Given the description of an element on the screen output the (x, y) to click on. 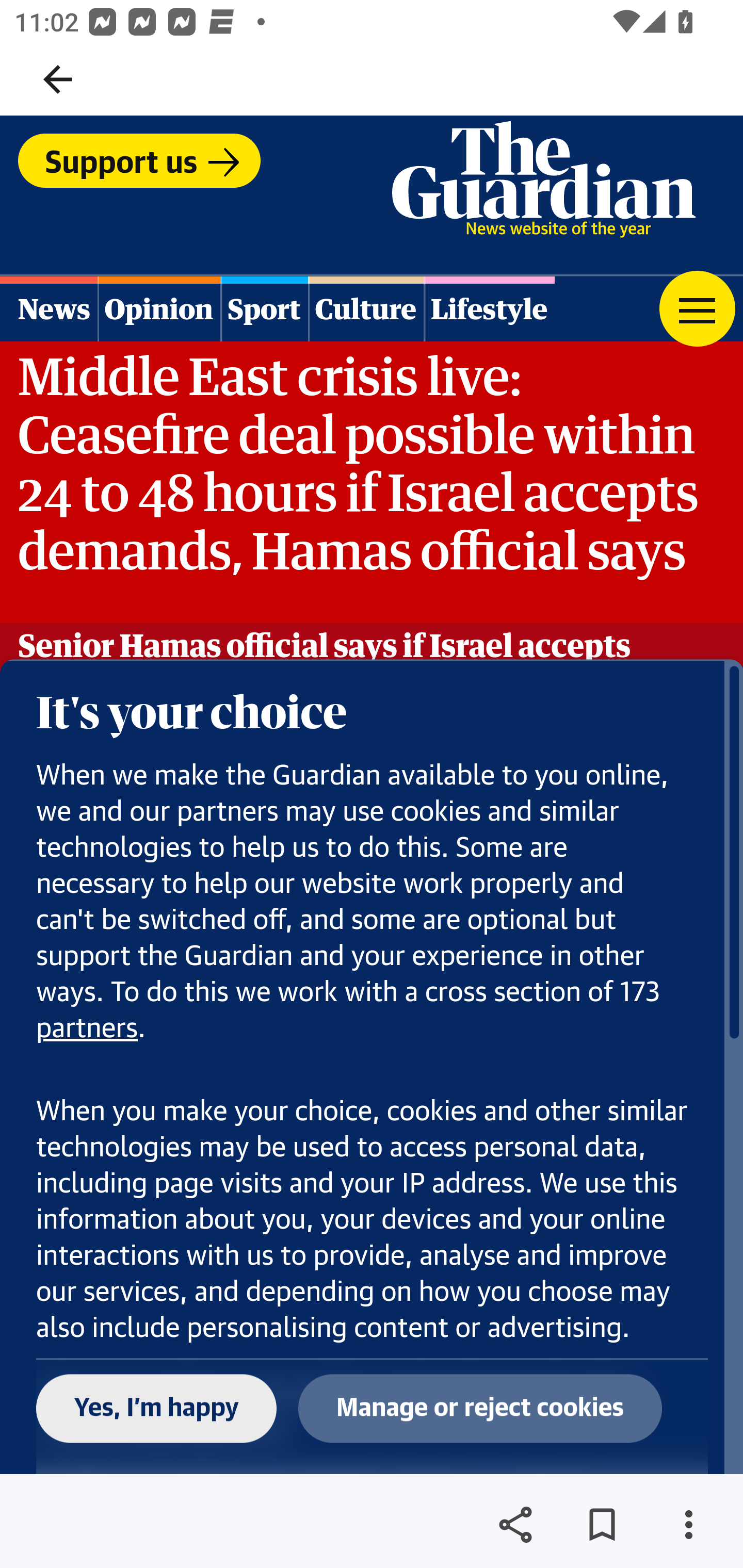
Navigate up (57, 79)
Support us (138, 159)
Toggle main menu (697, 308)
News (49, 308)
Opinion (158, 308)
Sport (264, 308)
Culture (365, 308)
Lifestyle (489, 308)
partners (87, 1028)
Yes, I’m happy (156, 1408)
Manage or reject cookies (479, 1408)
Share (514, 1524)
Save for later (601, 1524)
More options (688, 1524)
